Given the description of an element on the screen output the (x, y) to click on. 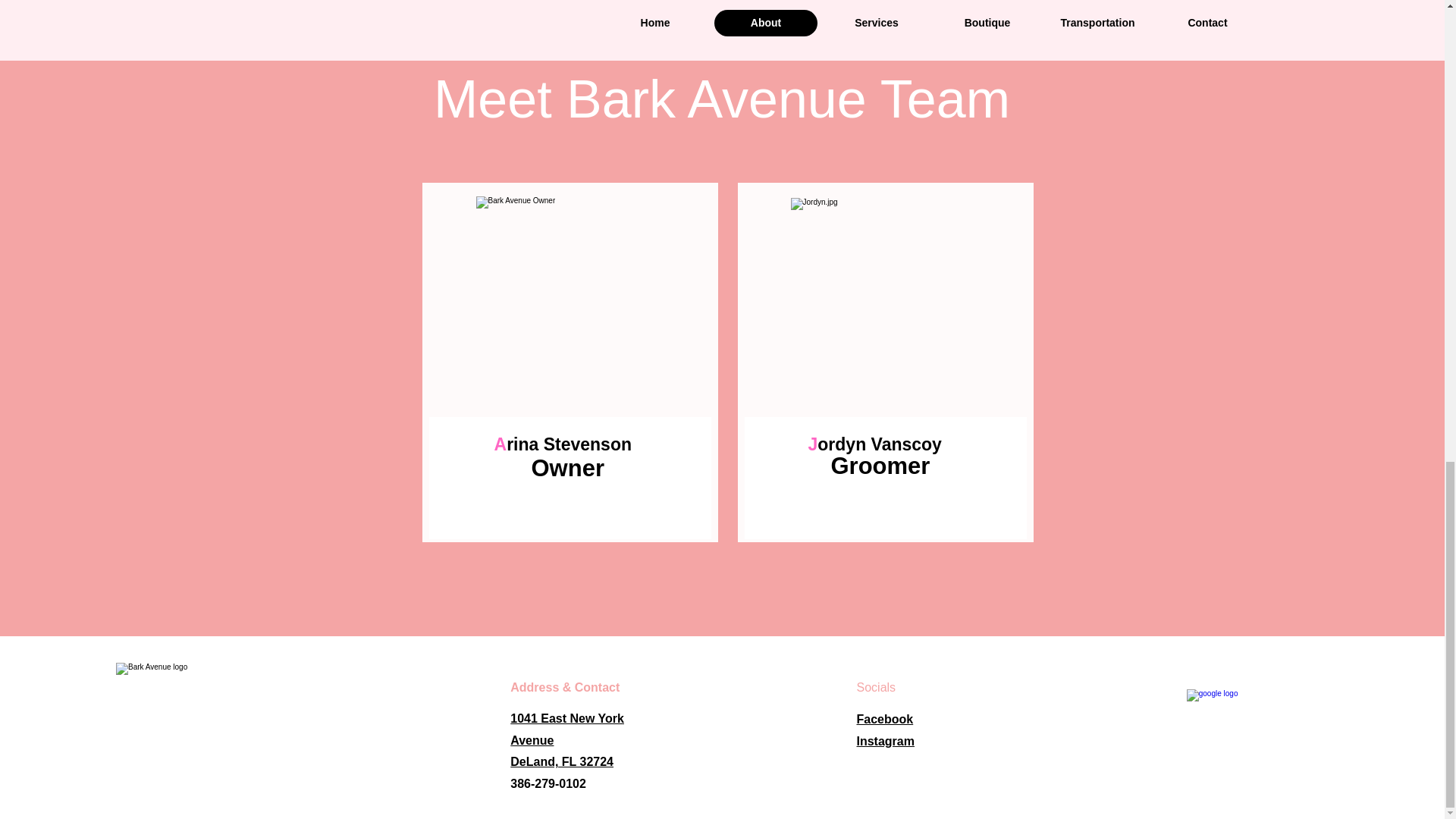
Instagram (885, 740)
Facebook (567, 740)
26-googleplusreviews.jpg (885, 718)
